Given the description of an element on the screen output the (x, y) to click on. 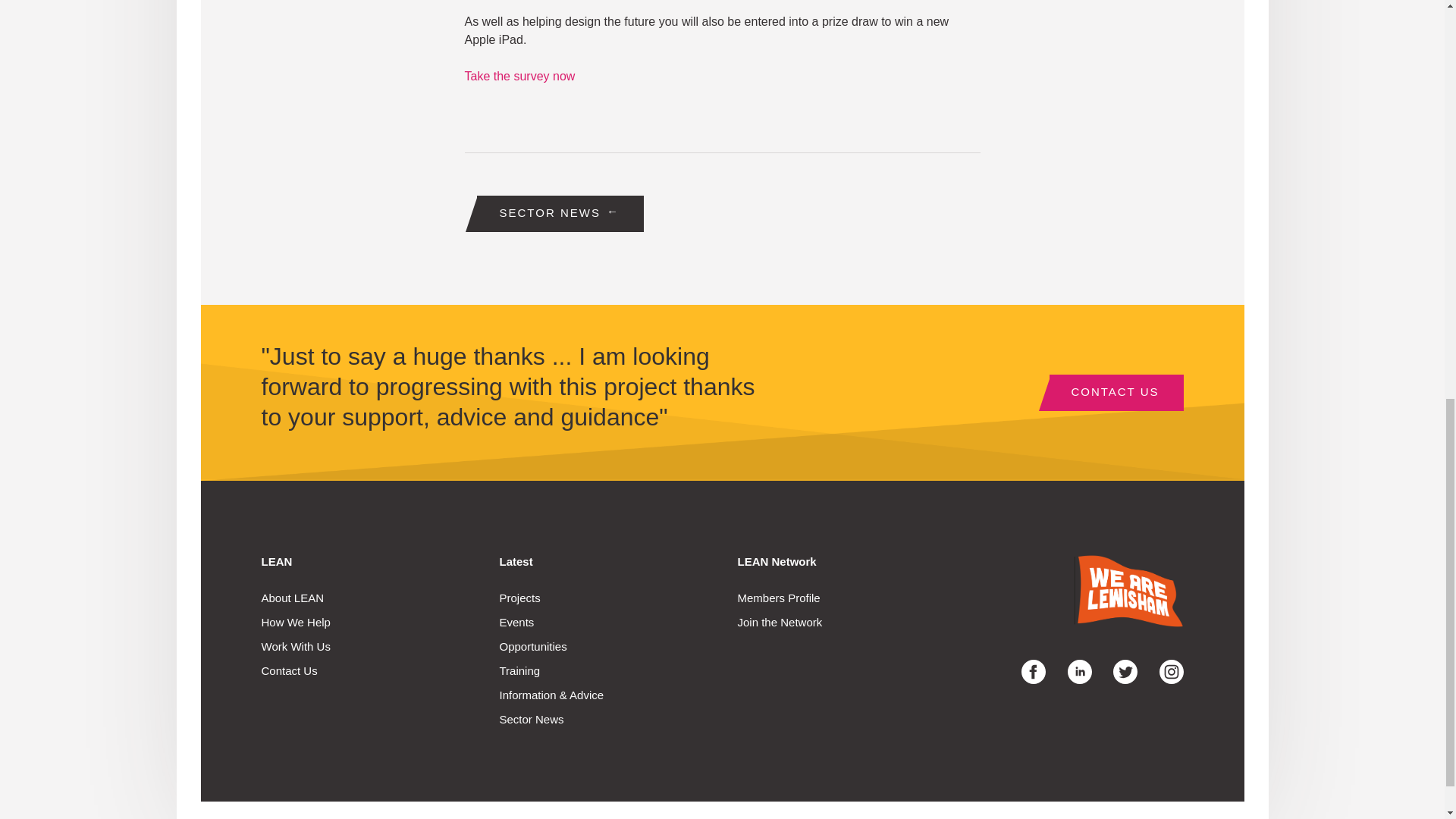
Take the survey now  (521, 75)
Log In (722, 694)
SECTOR NEWS (559, 213)
